Given the description of an element on the screen output the (x, y) to click on. 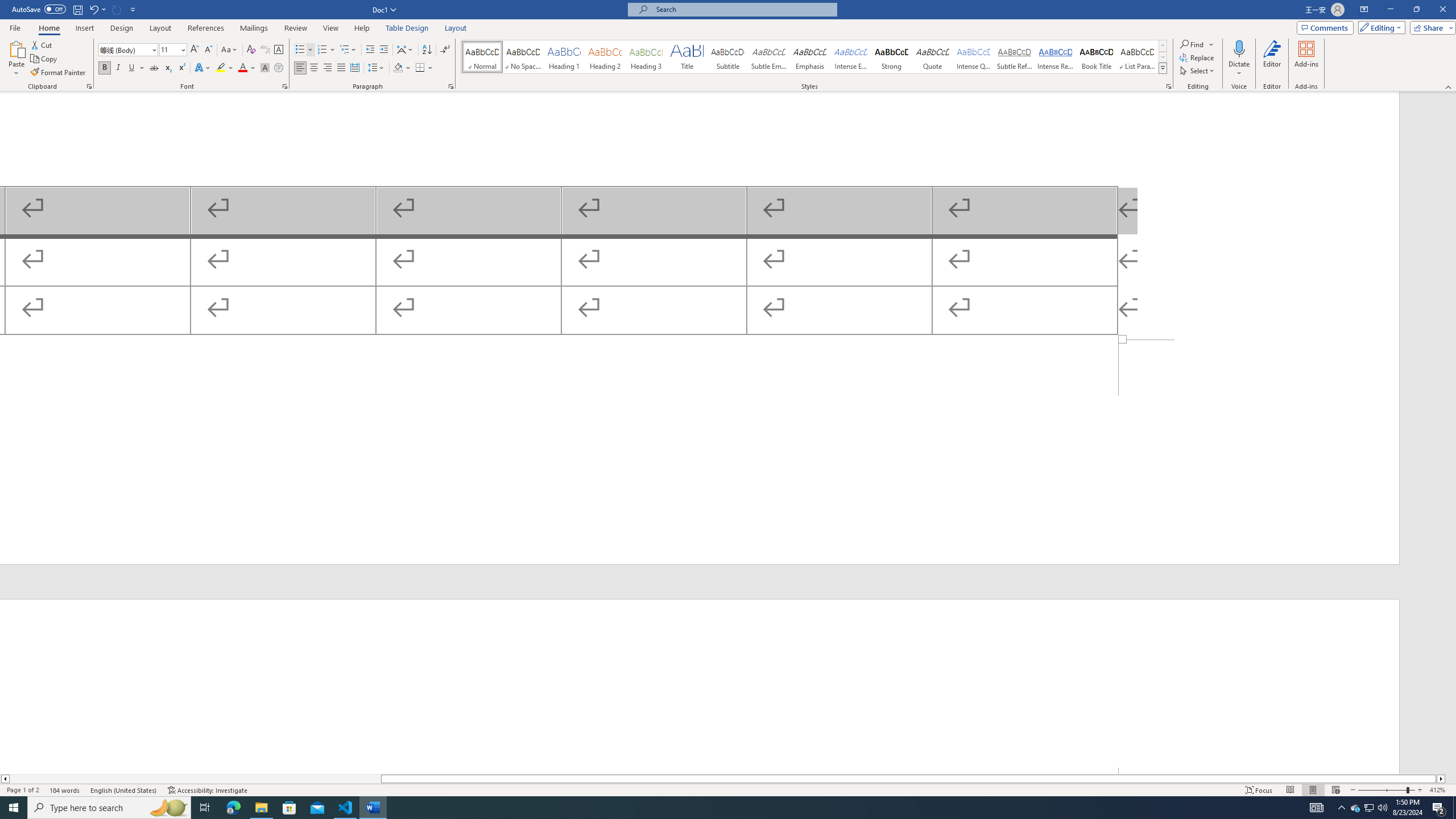
Intense Quote (973, 56)
Font Color Red (241, 67)
